Given the description of an element on the screen output the (x, y) to click on. 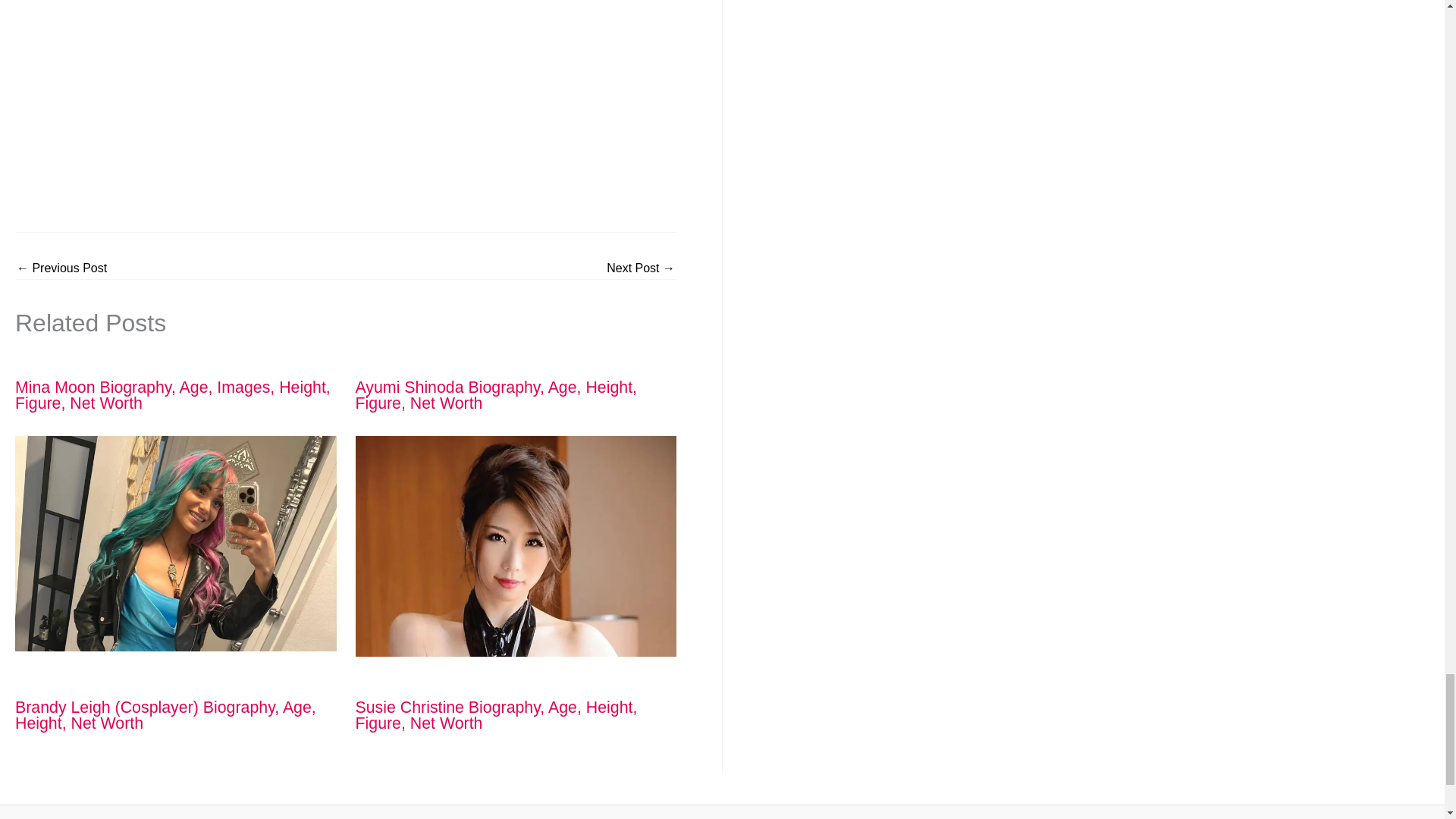
Jennifer Lawrence Biography, Age, Family, Images, Net Worth (61, 268)
Ayumi Shinoda Biography, Age, Height, Figure, Net Worth 2 (516, 545)
Pari Tamang Biography, Age, Family, Images, Net Worth (641, 268)
